Given the description of an element on the screen output the (x, y) to click on. 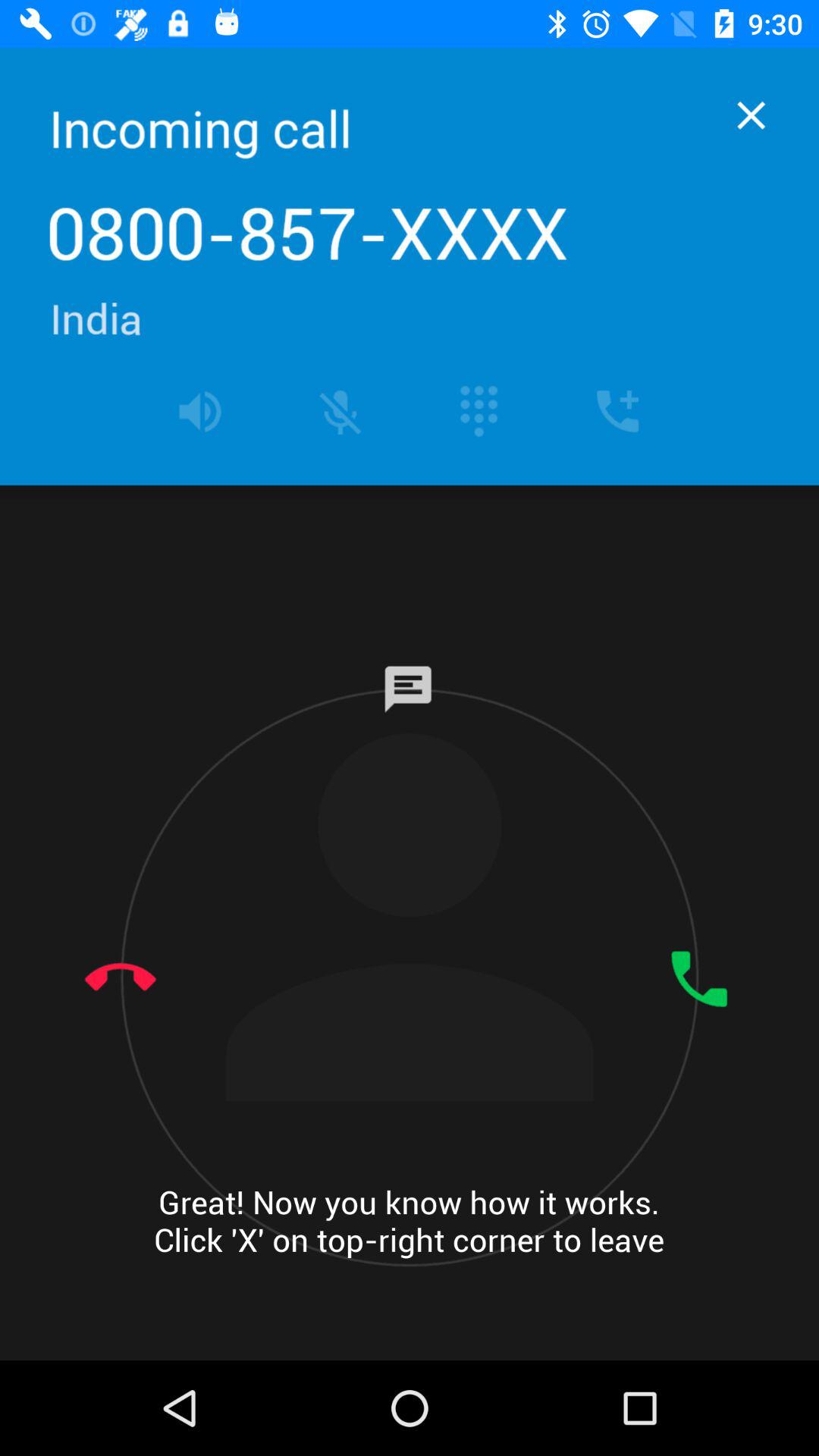
close option (751, 115)
